Given the description of an element on the screen output the (x, y) to click on. 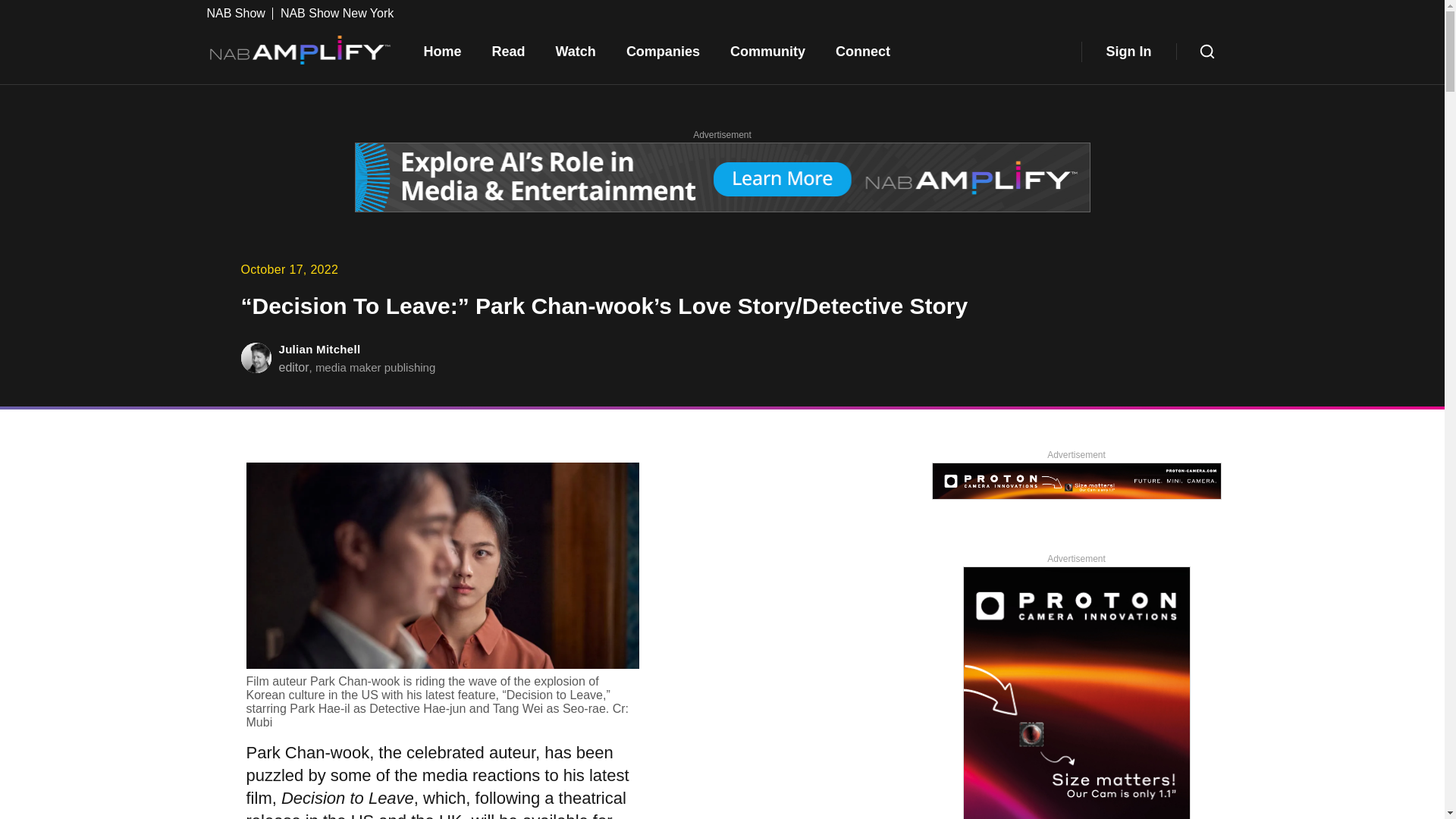
Companies (662, 51)
Proton Camera Innovations PROTON CAM  (1076, 481)
Amplify - AI Amplified (722, 178)
Sign In (1128, 51)
Community (767, 51)
Proton Camera Innovations PROTON CAM  (1076, 692)
Read (508, 51)
NAB Show (239, 13)
Connect (863, 51)
Home (441, 51)
